Given the description of an element on the screen output the (x, y) to click on. 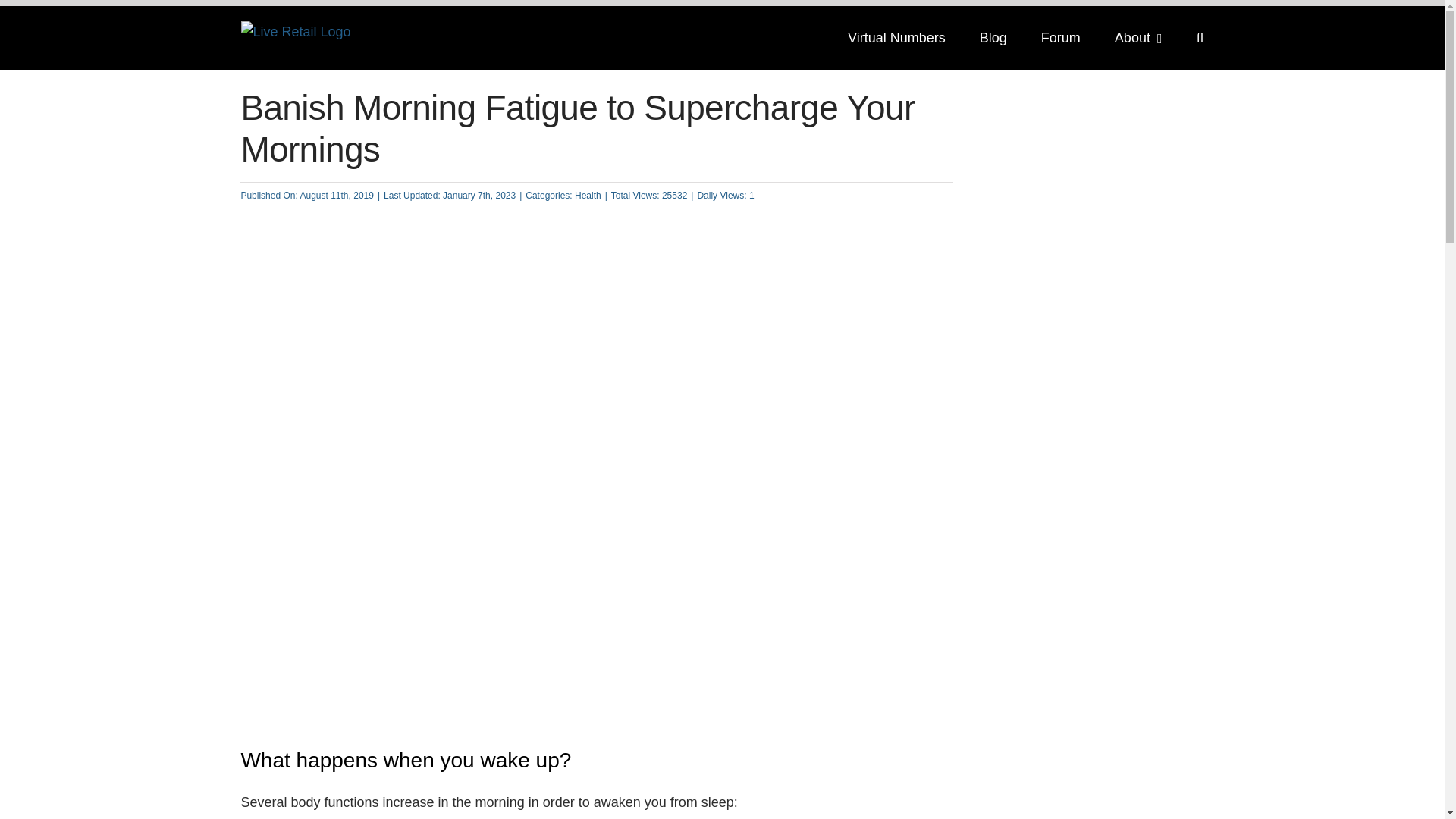
Health (588, 195)
Virtual Numbers (895, 37)
